Given the description of an element on the screen output the (x, y) to click on. 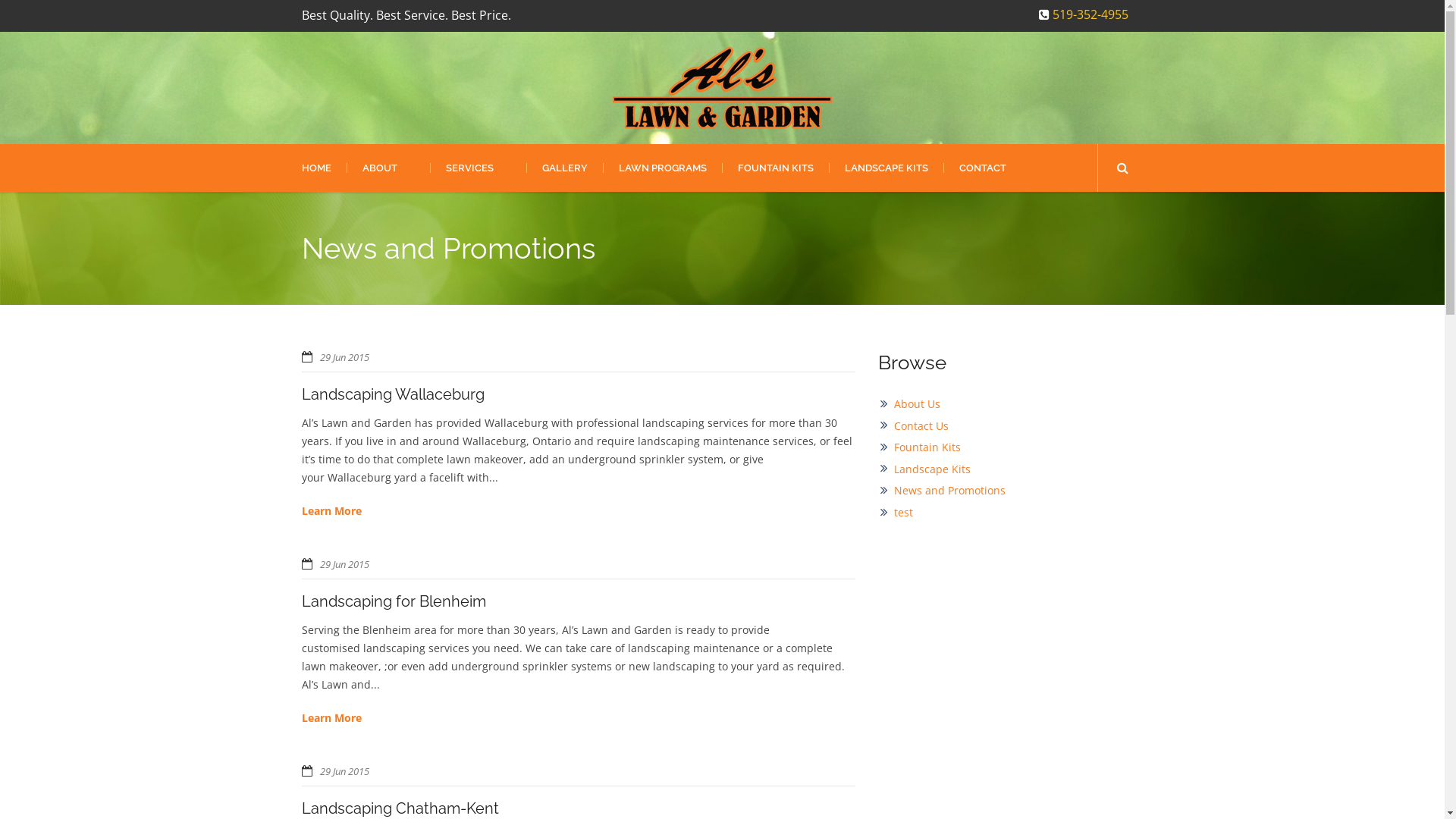
Landscaping for Blenheim Element type: text (393, 601)
Landscape Kits Element type: text (932, 468)
Learn More Element type: text (331, 511)
HOME Element type: text (323, 167)
SERVICES Element type: text (477, 167)
Fountain Kits Element type: text (927, 446)
CONTACT Element type: text (982, 167)
Landscaping Chatham-Kent Element type: text (399, 808)
FOUNTAIN KITS Element type: text (774, 167)
LAWN PROGRAMS Element type: text (661, 167)
29 Jun 2015 Element type: text (344, 771)
test Element type: text (903, 512)
29 Jun 2015 Element type: text (344, 357)
29 Jun 2015 Element type: text (344, 564)
LANDSCAPE KITS Element type: text (885, 167)
ABOUT Element type: text (387, 167)
About Us Element type: text (917, 403)
Contact Us Element type: text (921, 425)
Learn More Element type: text (331, 718)
News and Promotions Element type: text (949, 490)
GALLERY Element type: text (564, 167)
519-352-4955 Element type: text (1083, 14)
Landscaping Wallaceburg Element type: text (392, 394)
